Given the description of an element on the screen output the (x, y) to click on. 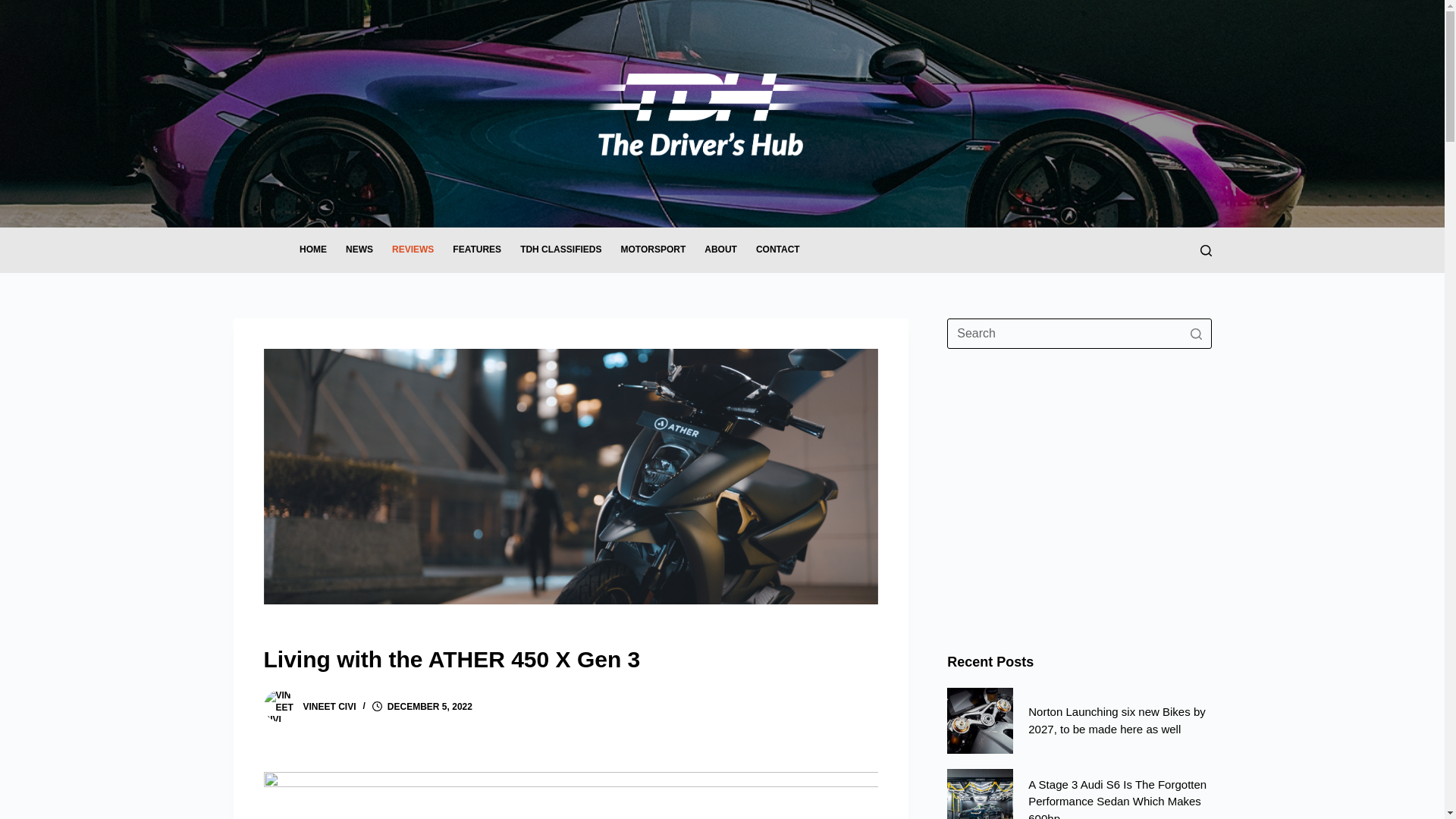
MOTORSPORT (653, 249)
Advertisement (1079, 485)
VINEET CIVI (329, 706)
Search for... (1079, 333)
TDH CLASSIFIEDS (561, 249)
Posts by Vineet Civi (329, 706)
ABOUT (720, 249)
HOME (312, 249)
REVIEWS (411, 249)
NEWS (359, 249)
Skip to content (15, 7)
FEATURES (477, 249)
Living with the ATHER 450 X Gen 3 (570, 659)
CONTACT (777, 249)
